Given the description of an element on the screen output the (x, y) to click on. 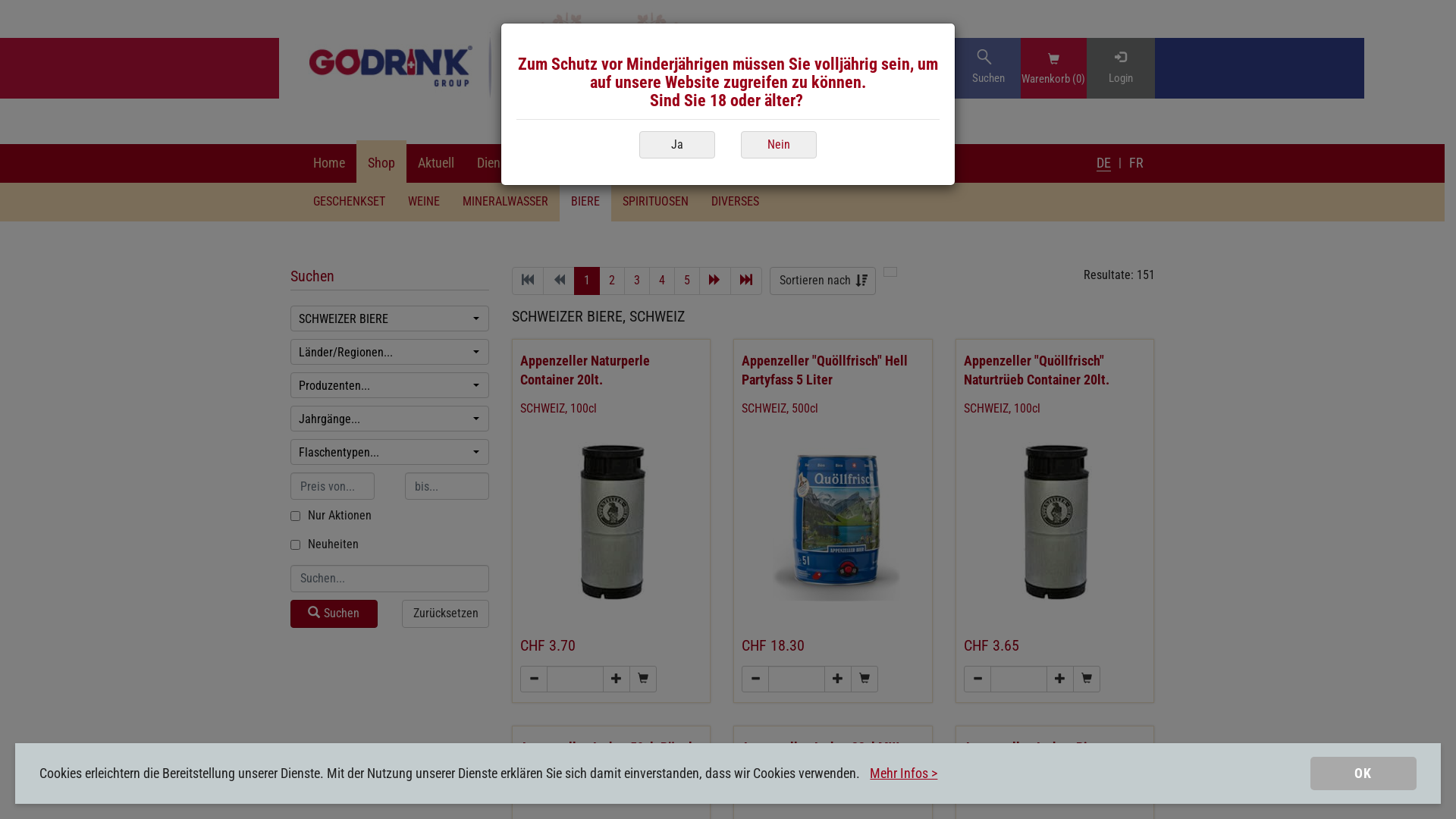
GESCHENKSET Element type: text (348, 201)
DE Element type: text (1103, 162)
MINERALWASSER Element type: text (504, 201)
Mehr Infos > Element type: text (903, 773)
WEINE Element type: text (422, 201)
Flaschentypen... Element type: text (389, 451)
Produzenten... Element type: text (389, 385)
Aktuell Element type: text (435, 163)
Ja Element type: text (677, 145)
Kontakt Element type: text (678, 163)
Home Element type: text (328, 163)
Nein Element type: text (778, 145)
SPIRITUOSEN Element type: text (655, 201)
SCHWEIZER BIERE Element type: text (389, 318)
Warenkorb (0) Element type: text (1053, 77)
DIVERSES Element type: text (734, 201)
Sortieren nach  Element type: text (822, 280)
4 Element type: text (661, 280)
Suchen Element type: text (332, 613)
1 Element type: text (586, 280)
Nein Element type: text (778, 143)
Zur Listen-Ansicht Element type: hover (890, 271)
5 Element type: text (686, 280)
Dienstleistungen Element type: text (521, 163)
Login Element type: text (1119, 67)
OK Element type: text (1363, 773)
2 Element type: text (611, 280)
BIERE Element type: text (585, 201)
Shop Element type: text (381, 163)
FR Element type: text (1135, 162)
3 Element type: text (636, 280)
